Given the description of an element on the screen output the (x, y) to click on. 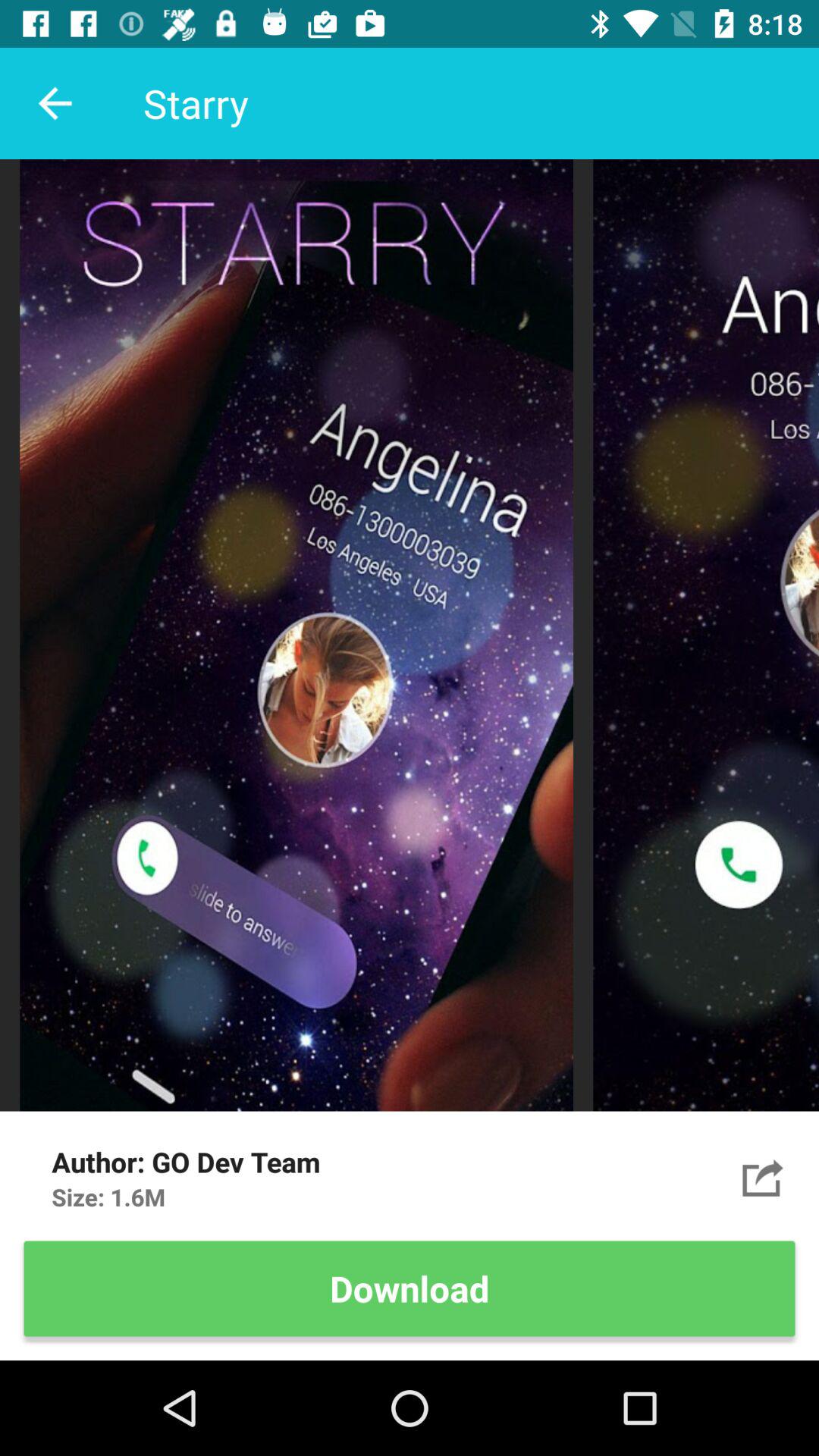
turn on the item above download (763, 1177)
